Given the description of an element on the screen output the (x, y) to click on. 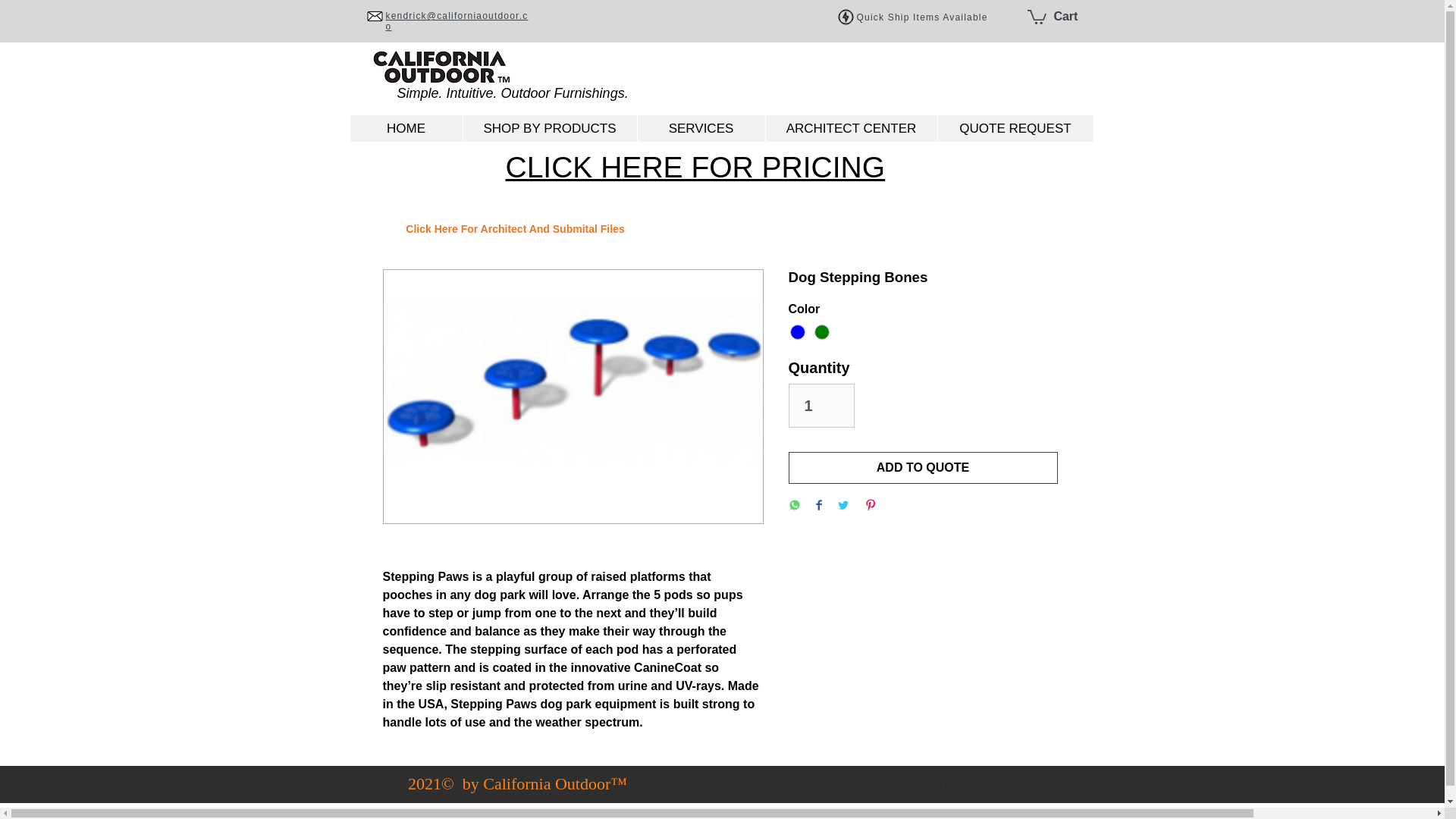
ADD TO QUOTE (923, 468)
ARCHITECT CENTER (850, 128)
QUOTE REQUEST (1015, 128)
Click Here For Architect And Submital Files (514, 229)
CLICK HERE FOR PRICING (695, 166)
1 (821, 405)
biycleparking.com (884, 783)
SERVICES (701, 128)
HOME (406, 128)
SHOP BY PRODUCTS (550, 128)
